Given the description of an element on the screen output the (x, y) to click on. 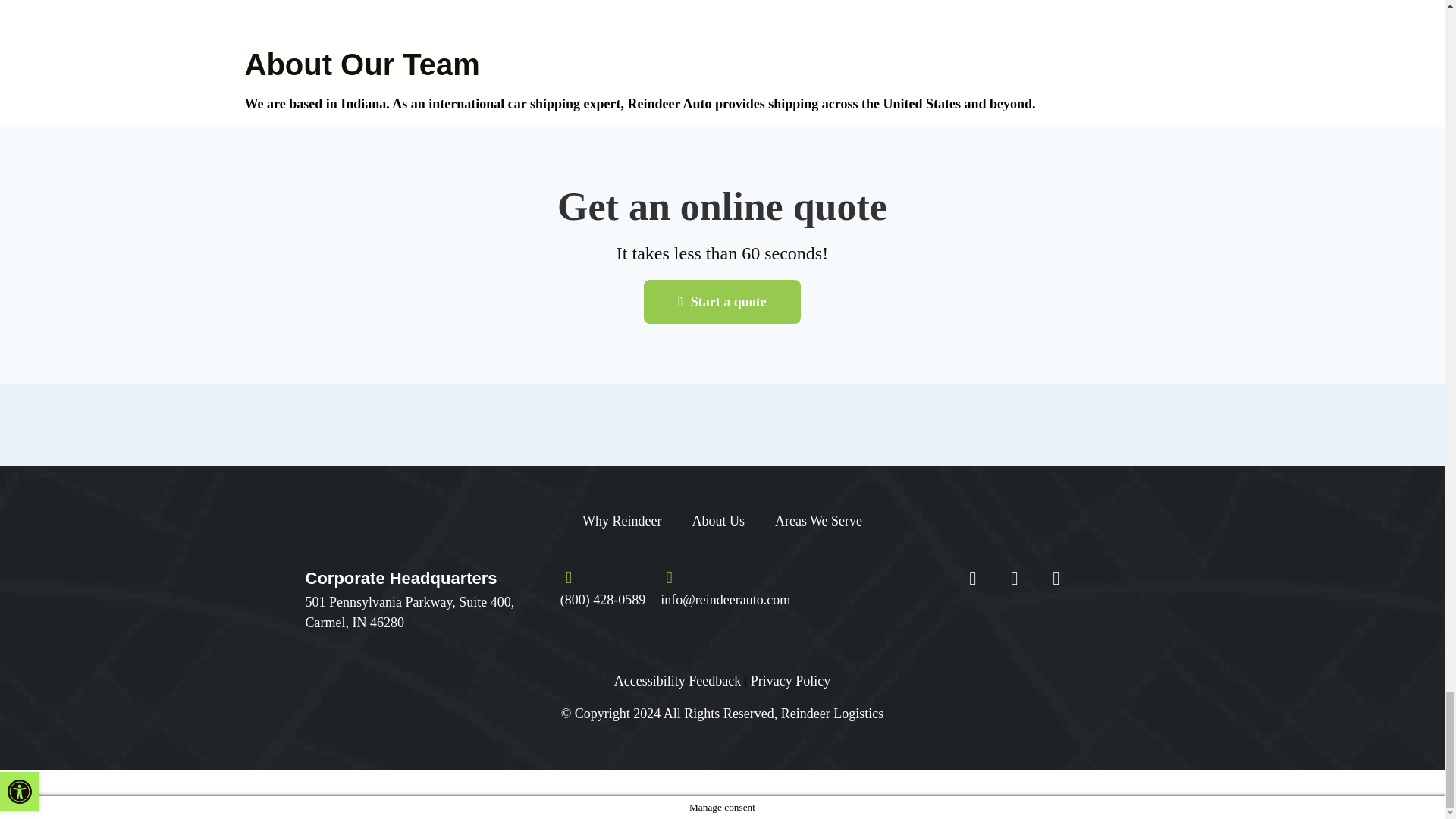
Start a quote (721, 300)
About Us (718, 520)
Why Reindeer (622, 520)
Areas We Serve (818, 520)
